Given the description of an element on the screen output the (x, y) to click on. 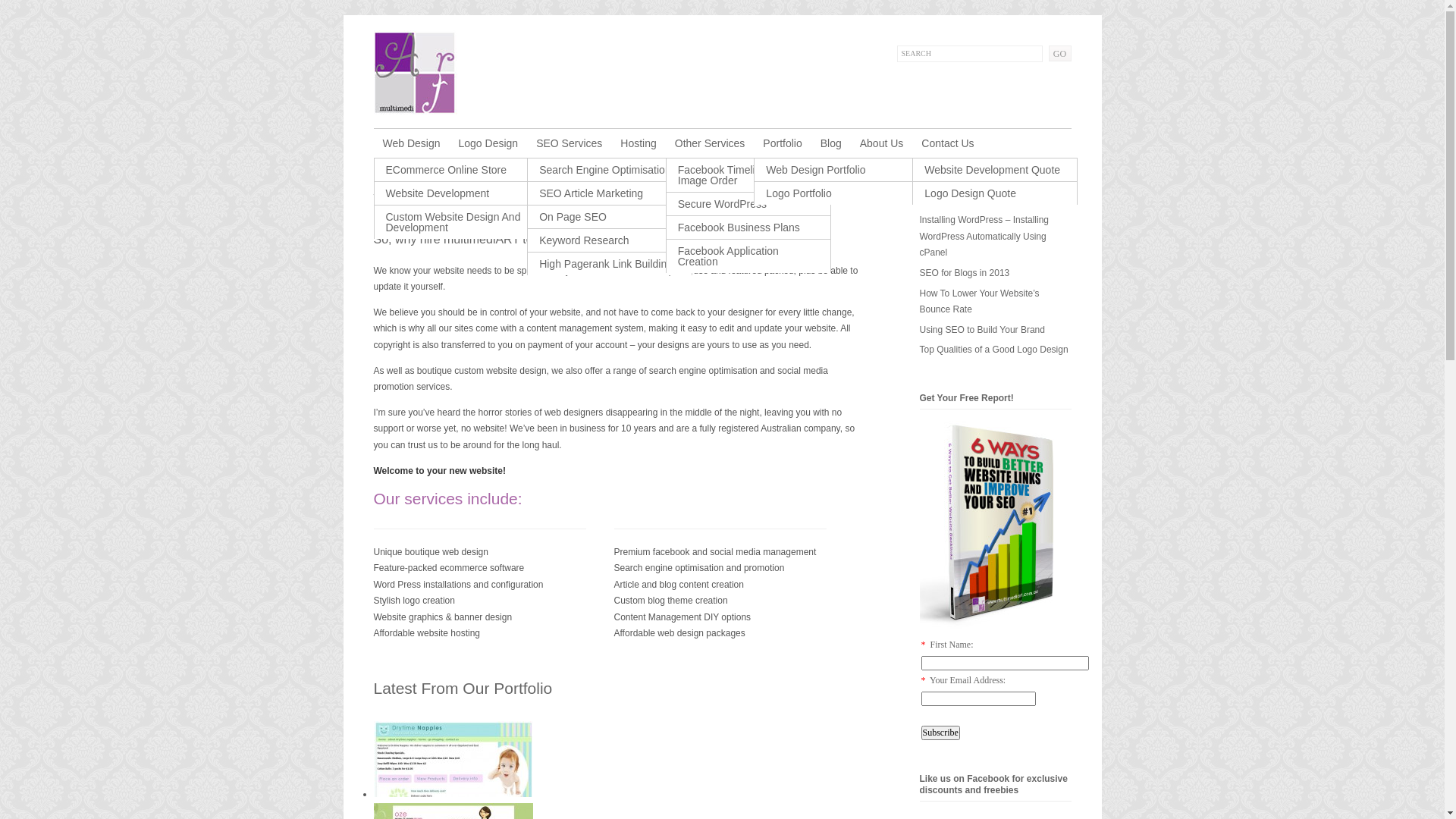
On Page SEO Element type: text (609, 216)
Custom Website Design And Development Element type: text (456, 221)
Logo Design Quote Element type: text (994, 193)
High Pagerank Link Building Element type: text (609, 263)
Logo Design Element type: text (488, 142)
Portfolio Element type: text (781, 142)
Keyword Research Element type: text (609, 240)
Search Engine Optimisation Element type: text (609, 169)
Contact Us Element type: text (947, 142)
SEO Services Element type: text (569, 142)
Top Qualities of a Good Logo Design Element type: text (993, 349)
Facebook Business Plans Element type: text (748, 227)
Subscribe Element type: text (939, 732)
Other Services Element type: text (709, 142)
multimediART Element type: hover (414, 111)
Web Design Element type: text (410, 142)
Web Design Portfolio Element type: text (836, 169)
Blog Element type: text (830, 142)
About Us Element type: text (881, 142)
ECommerce Online Store Element type: text (456, 169)
Secure WordPress Element type: text (748, 203)
Facebook Timeline Cover Image Order Element type: text (748, 174)
Website Development Element type: text (456, 193)
Hosting Element type: text (638, 142)
SEO Article Marketing Element type: text (609, 193)
Website Development Quote Element type: text (994, 169)
Using SEO to Build Your Brand Element type: text (981, 329)
Facebook Application Creation Element type: text (748, 256)
GO Element type: text (1059, 53)
SEO for Blogs in 2013 Element type: text (964, 272)
Logo Portfolio Element type: text (836, 193)
Drytime Nappies Element type: hover (452, 793)
